Given the description of an element on the screen output the (x, y) to click on. 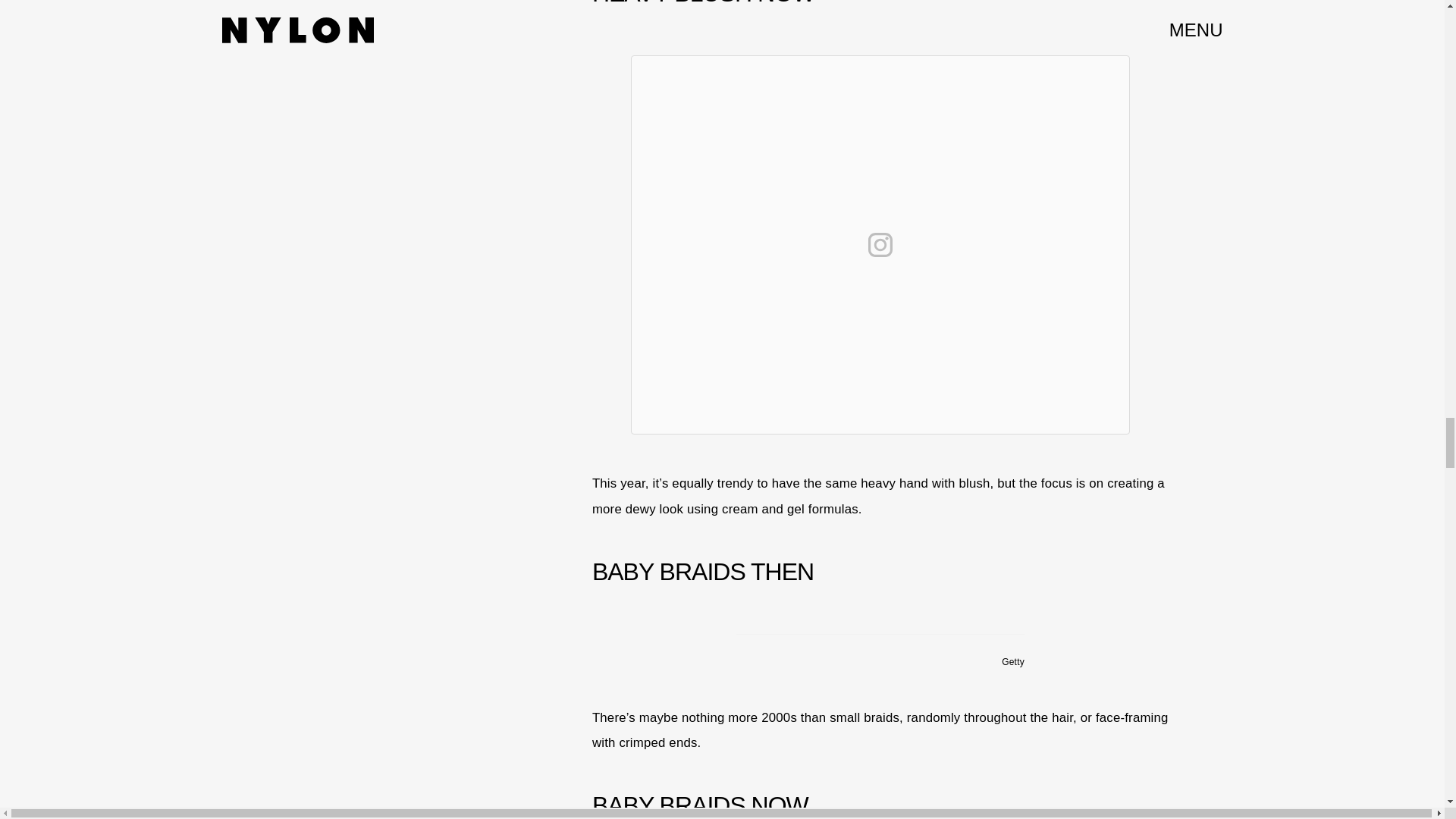
View on Instagram (879, 244)
